Given the description of an element on the screen output the (x, y) to click on. 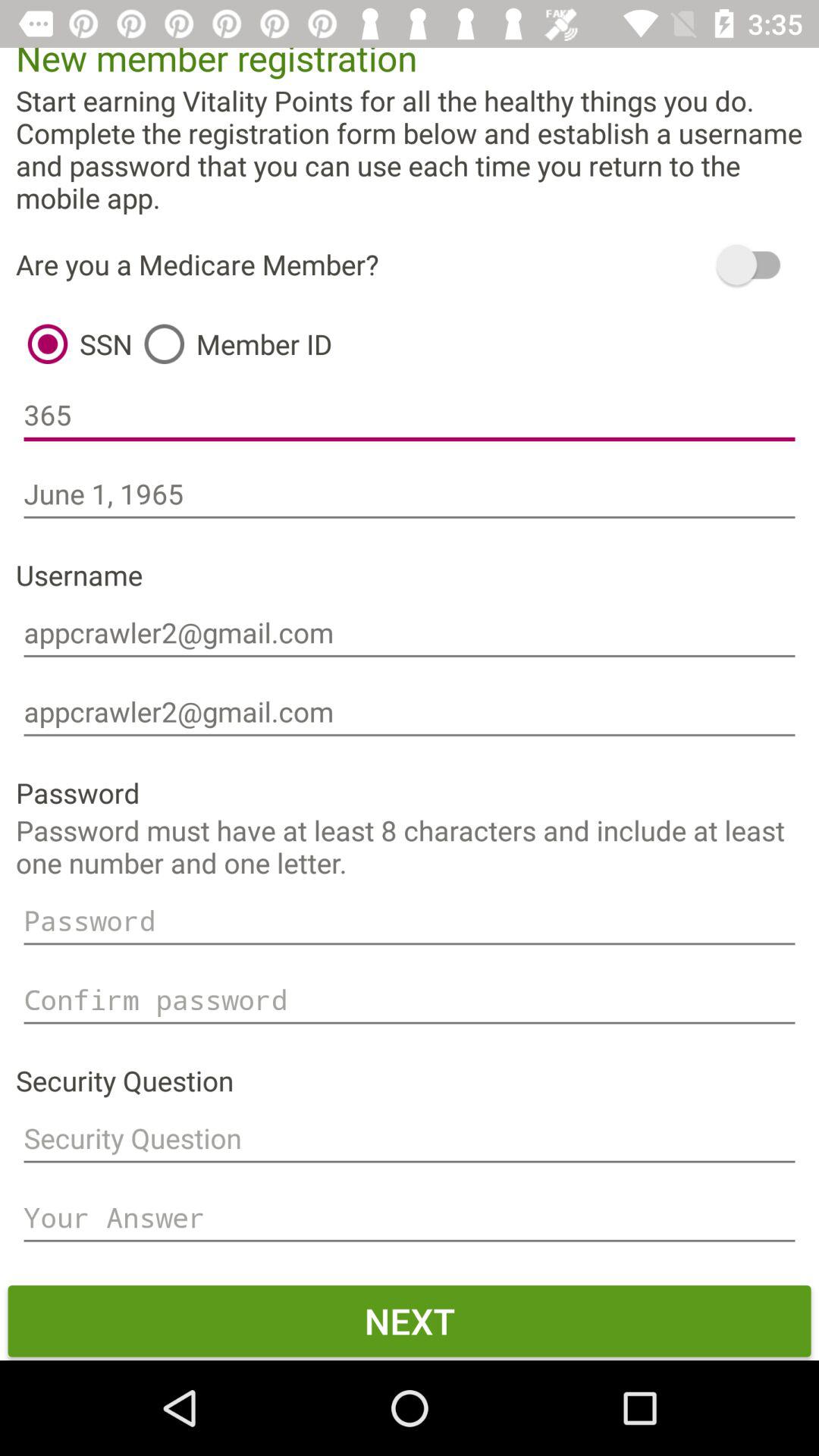
enter password (409, 920)
